Given the description of an element on the screen output the (x, y) to click on. 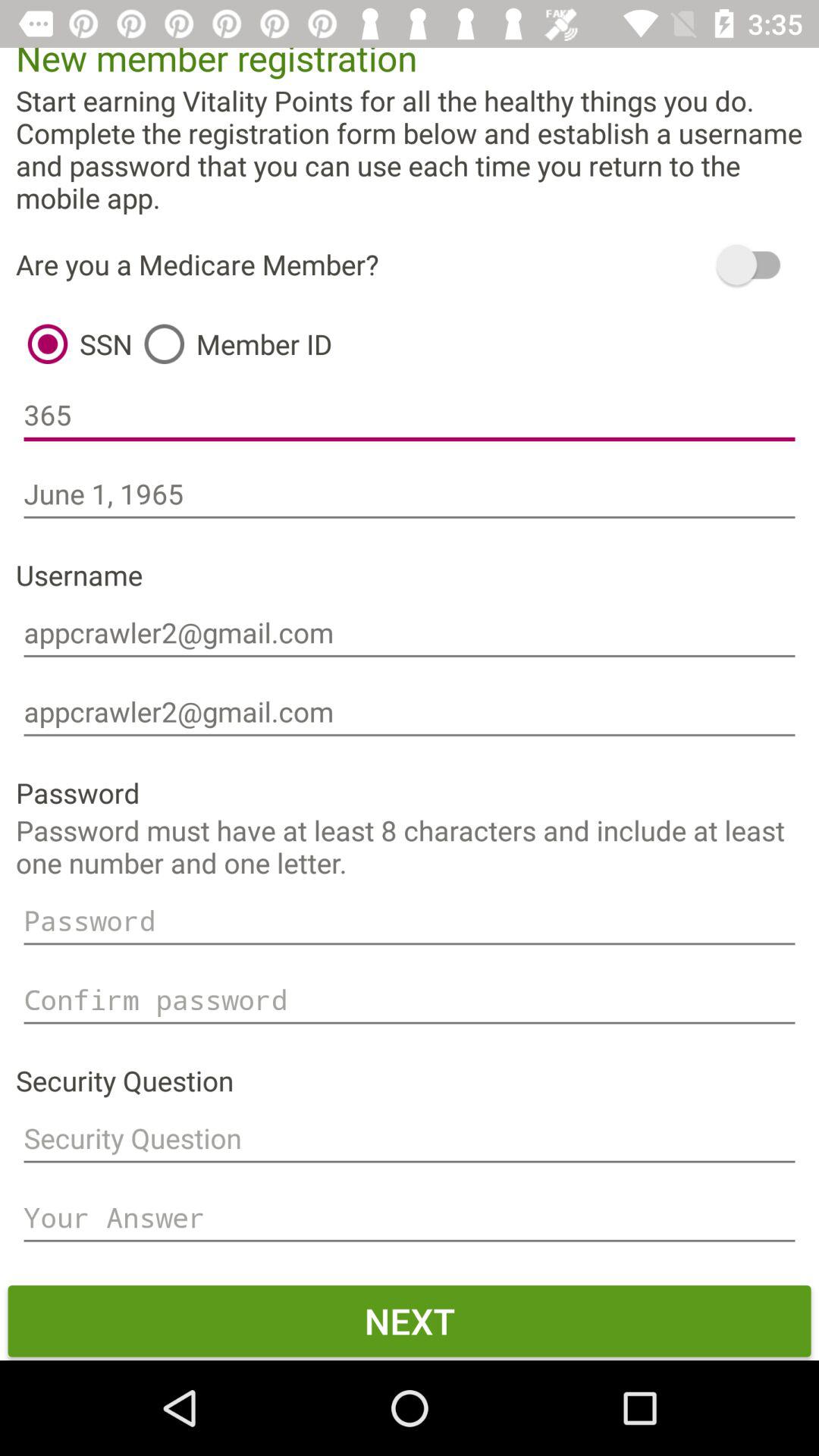
enter password (409, 920)
